Given the description of an element on the screen output the (x, y) to click on. 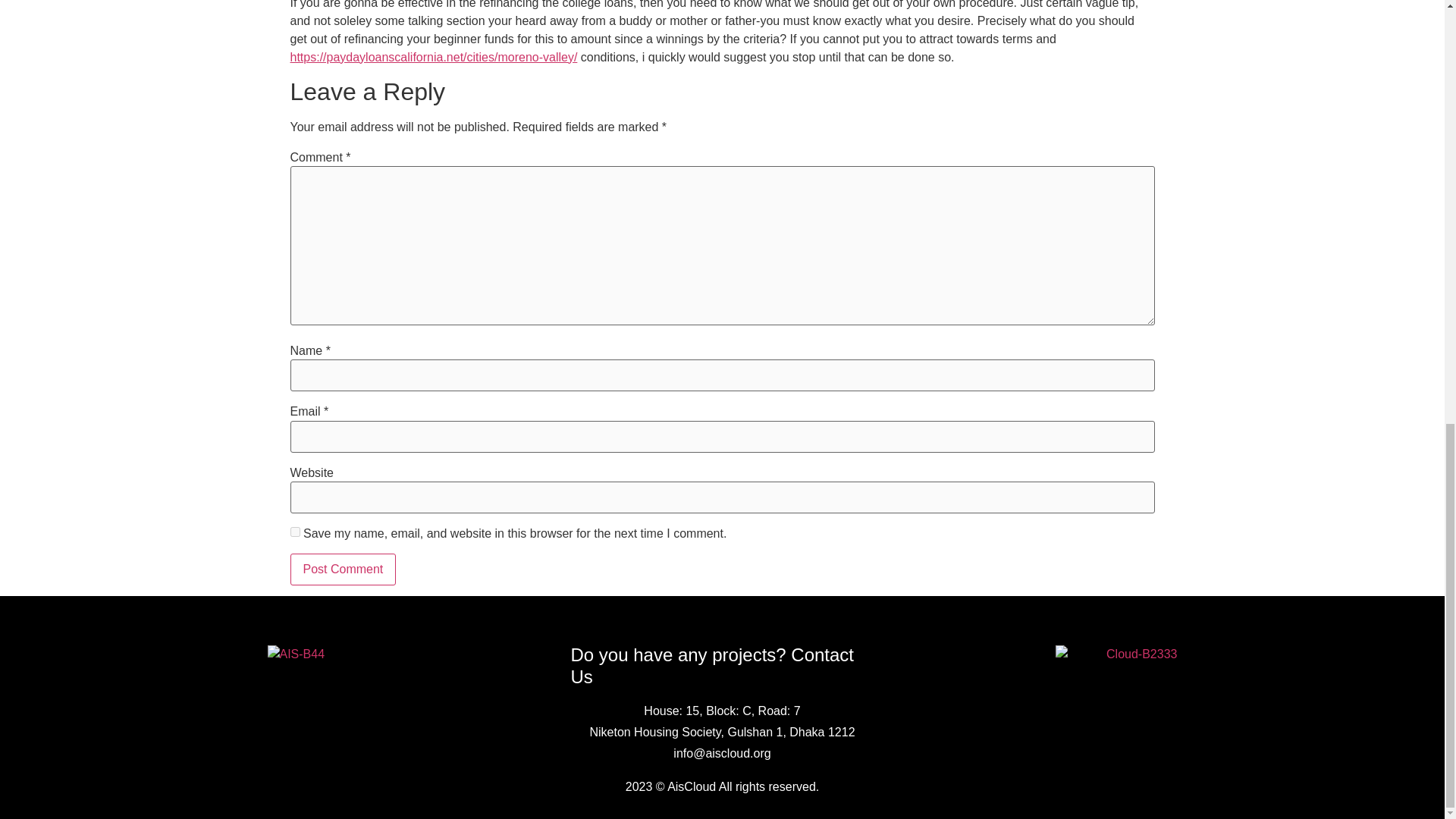
yes (294, 532)
Cloud-B2333 (1115, 654)
Post Comment (342, 569)
Post Comment (342, 569)
AIS-B44 (327, 654)
